Given the description of an element on the screen output the (x, y) to click on. 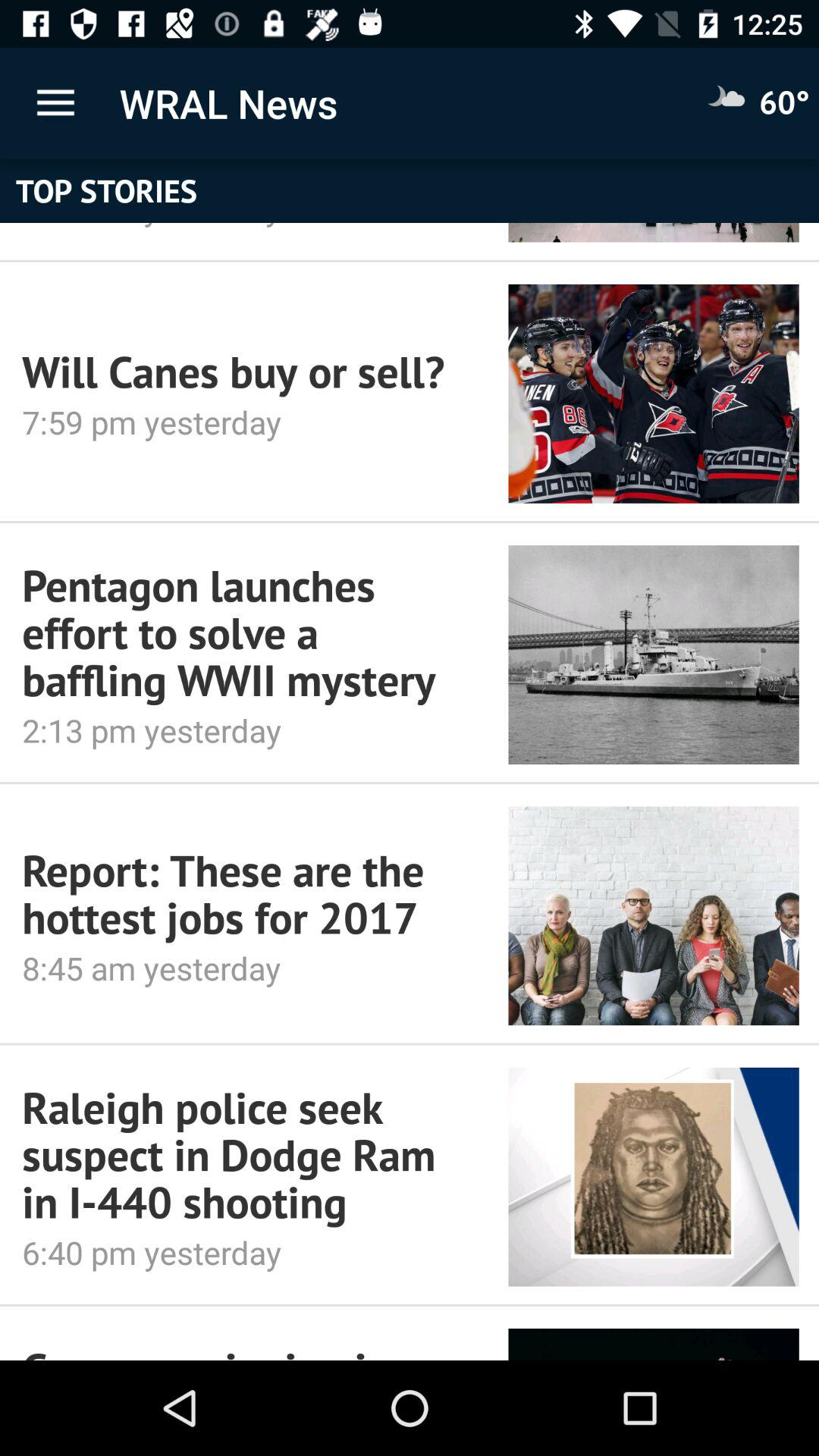
choose top stories (409, 190)
